Given the description of an element on the screen output the (x, y) to click on. 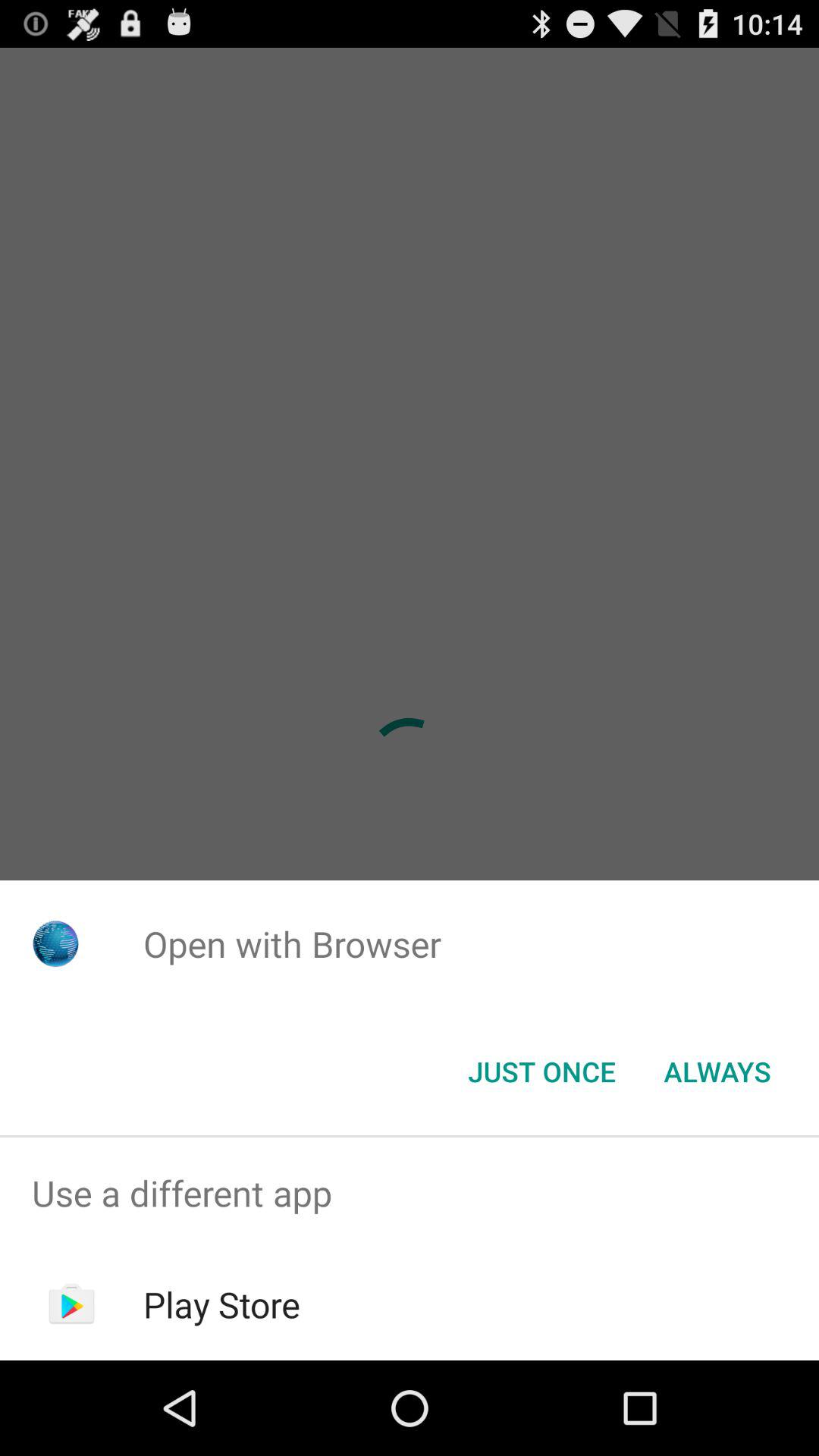
click use a different item (409, 1192)
